Given the description of an element on the screen output the (x, y) to click on. 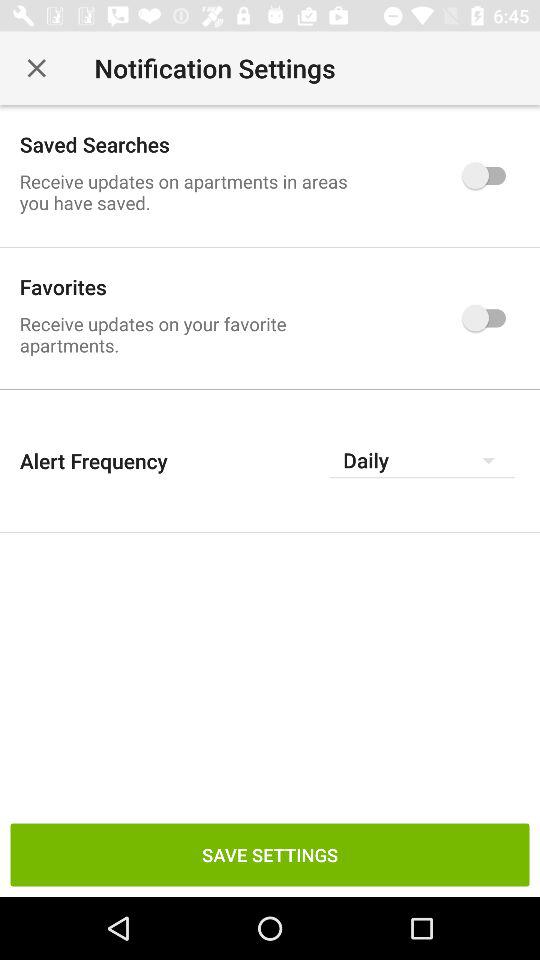
turn on icon to the left of the notification settings icon (36, 68)
